Given the description of an element on the screen output the (x, y) to click on. 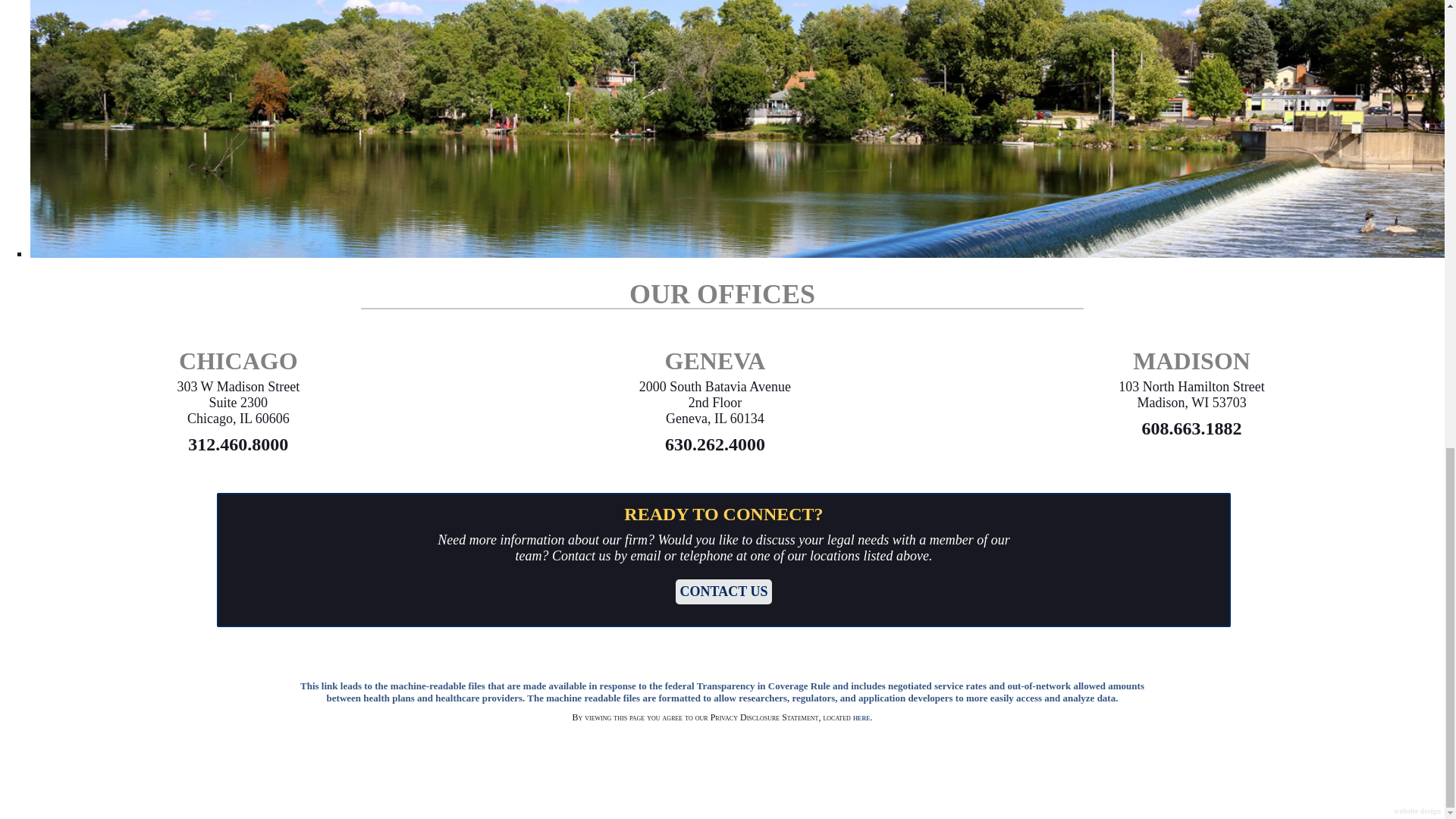
CONTACT US (724, 591)
here (861, 716)
